Given the description of an element on the screen output the (x, y) to click on. 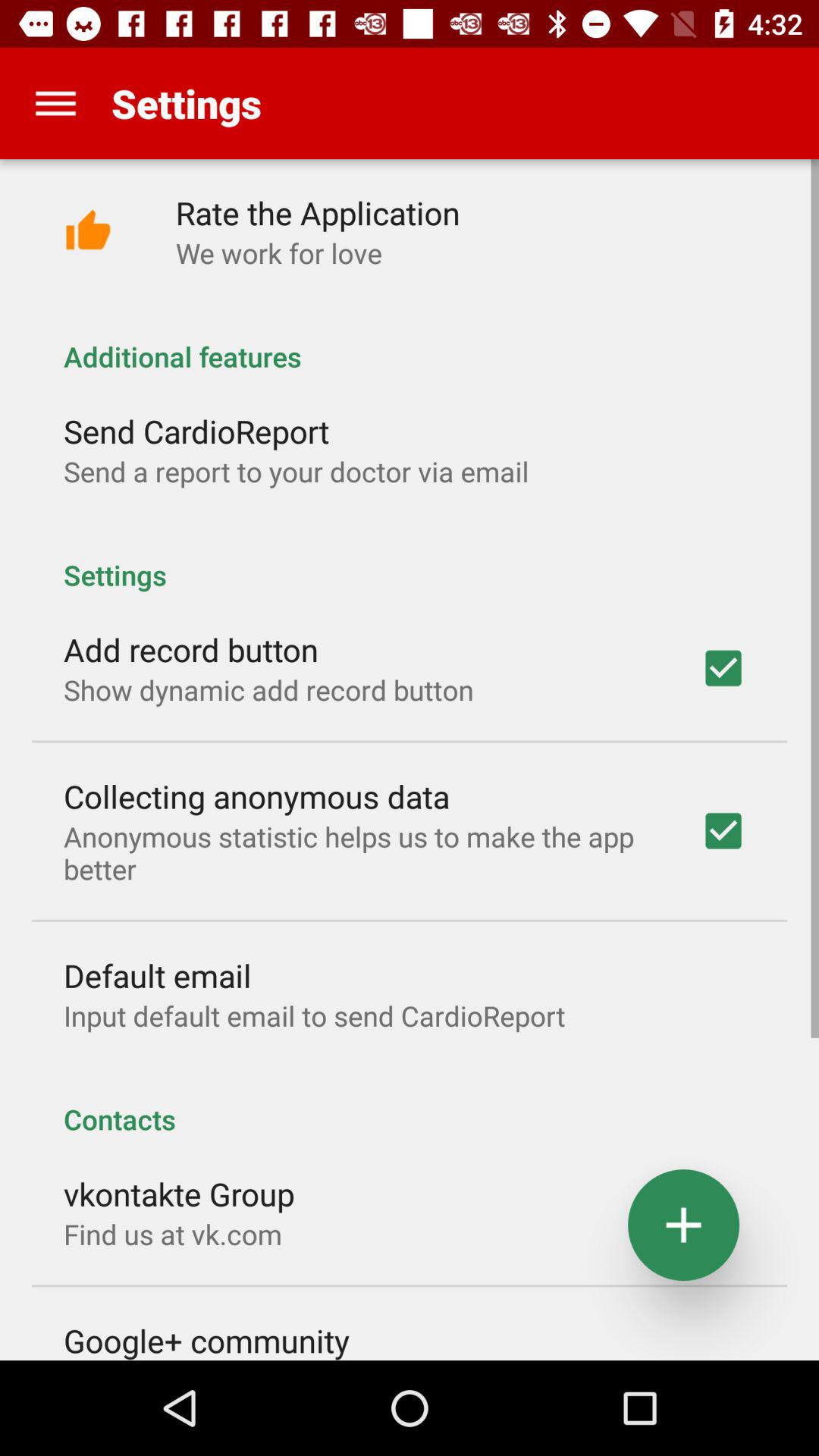
jump to the contacts icon (409, 1103)
